Given the description of an element on the screen output the (x, y) to click on. 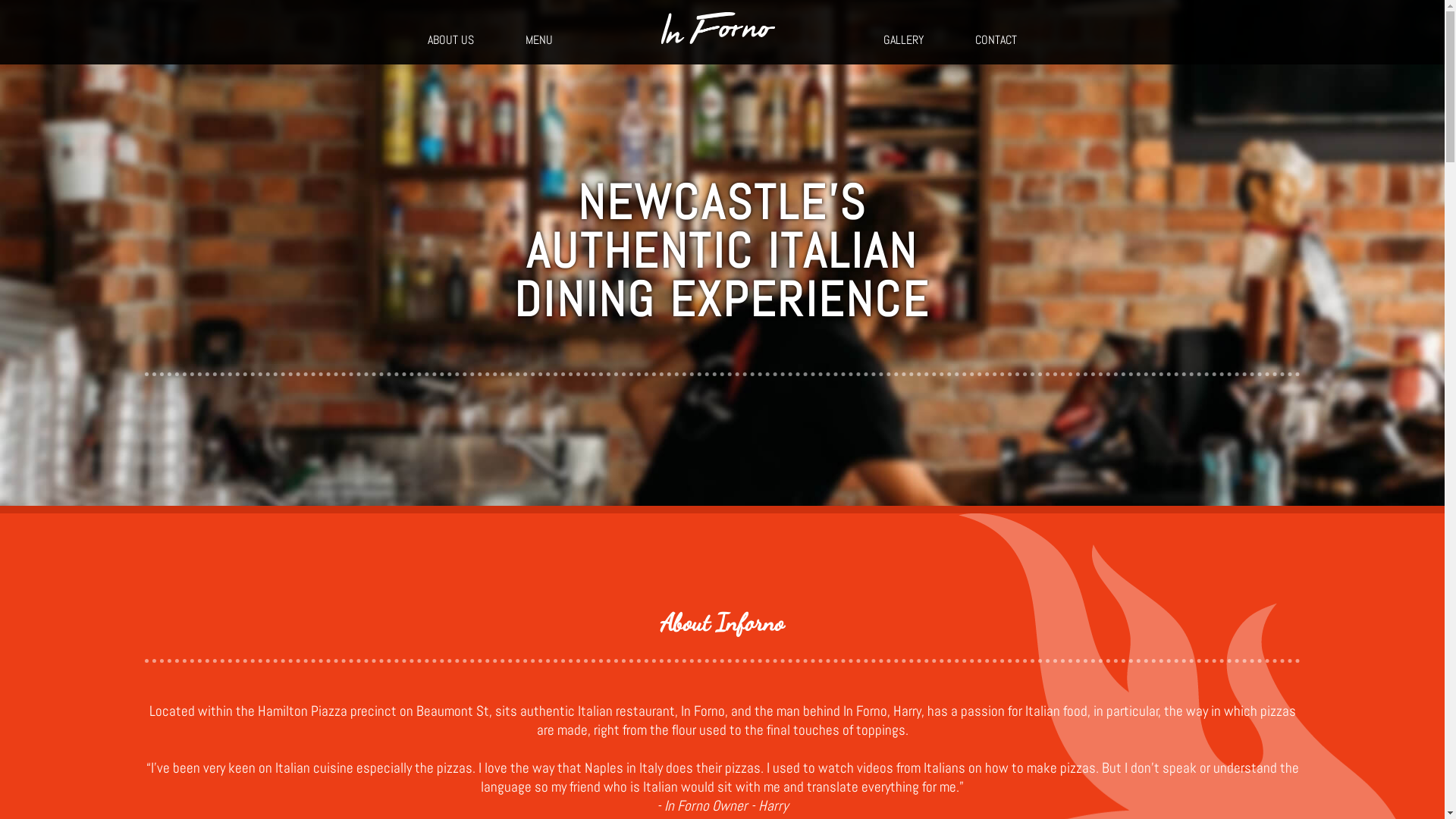
GALLERY Element type: text (903, 39)
ABOUT US Element type: text (450, 39)
CONTACT Element type: text (995, 39)
MENU Element type: text (538, 39)
